Given the description of an element on the screen output the (x, y) to click on. 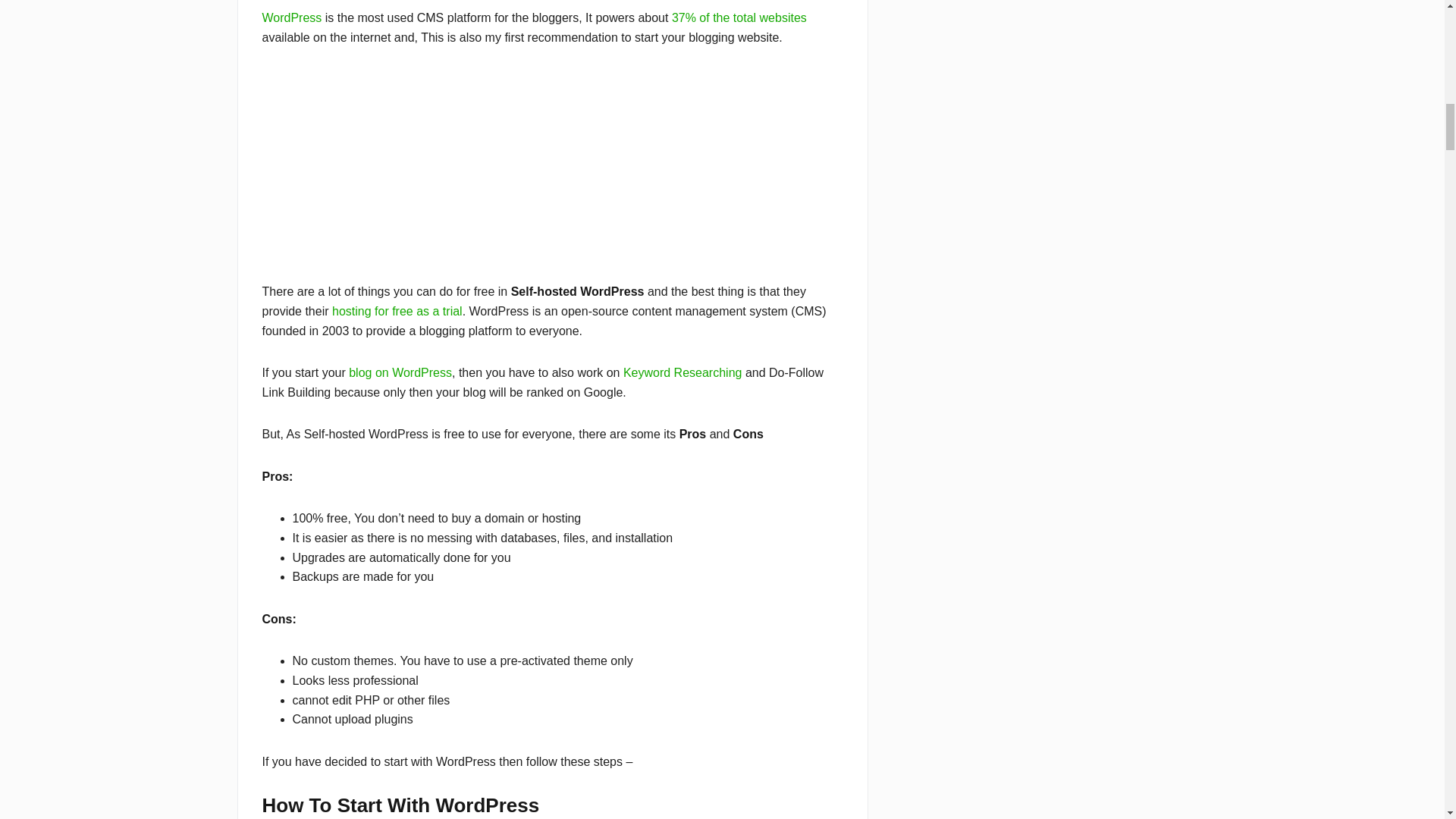
hosting for free as a trial (397, 310)
Keyword Researching (682, 372)
blog on WordPress (400, 372)
WordPress (291, 17)
Advertisement (552, 175)
